Given the description of an element on the screen output the (x, y) to click on. 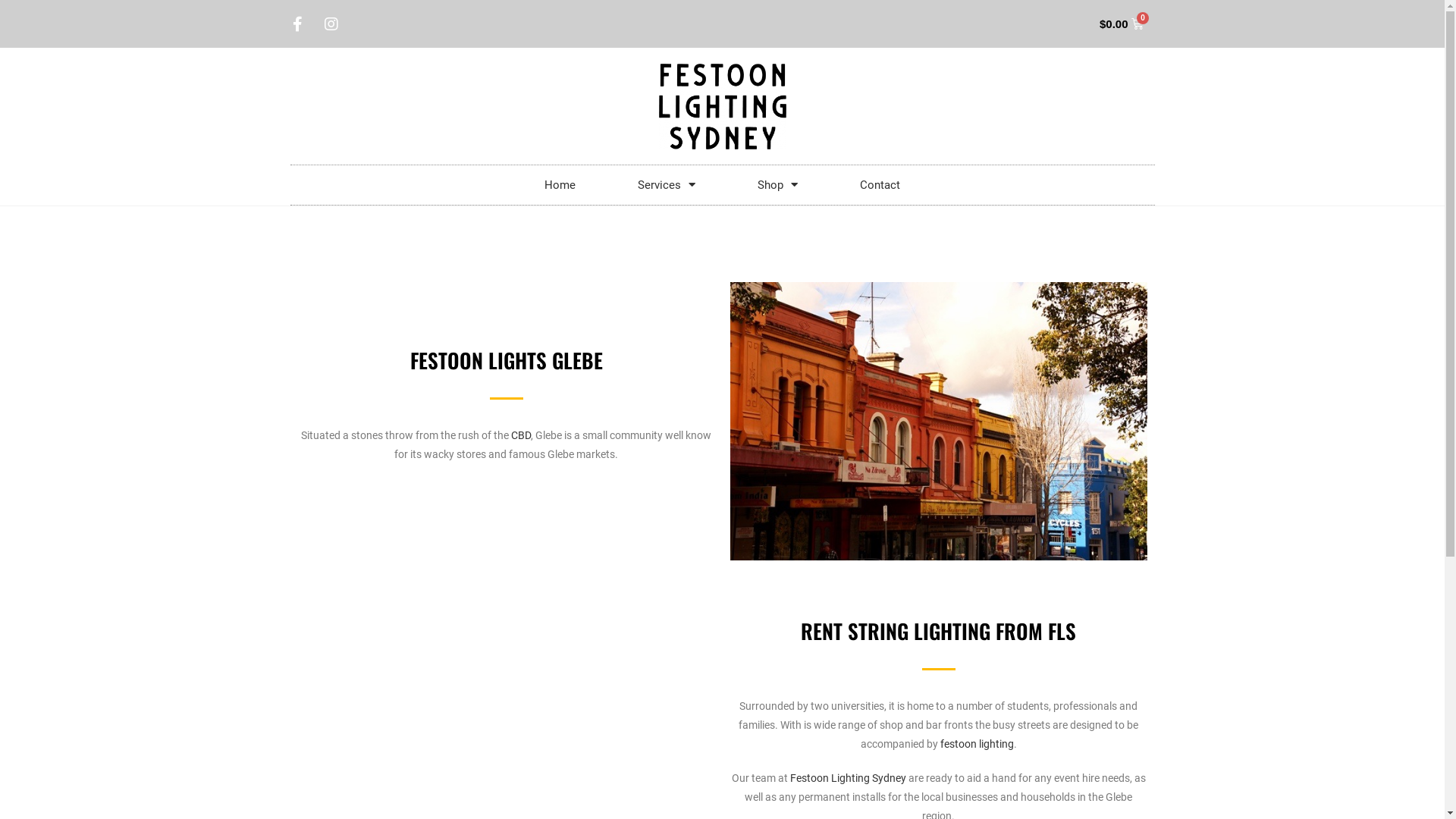
festoon lighting Element type: text (976, 743)
Contact Element type: text (879, 184)
CBD Element type: text (520, 435)
Home Element type: text (559, 184)
$0.00
0 Element type: text (1121, 23)
RENT STRING LIGHTING FROM FLS Element type: text (938, 630)
Festoon Lighting Sydney Element type: text (848, 777)
Shop Element type: text (777, 184)
Services Element type: text (666, 184)
